Given the description of an element on the screen output the (x, y) to click on. 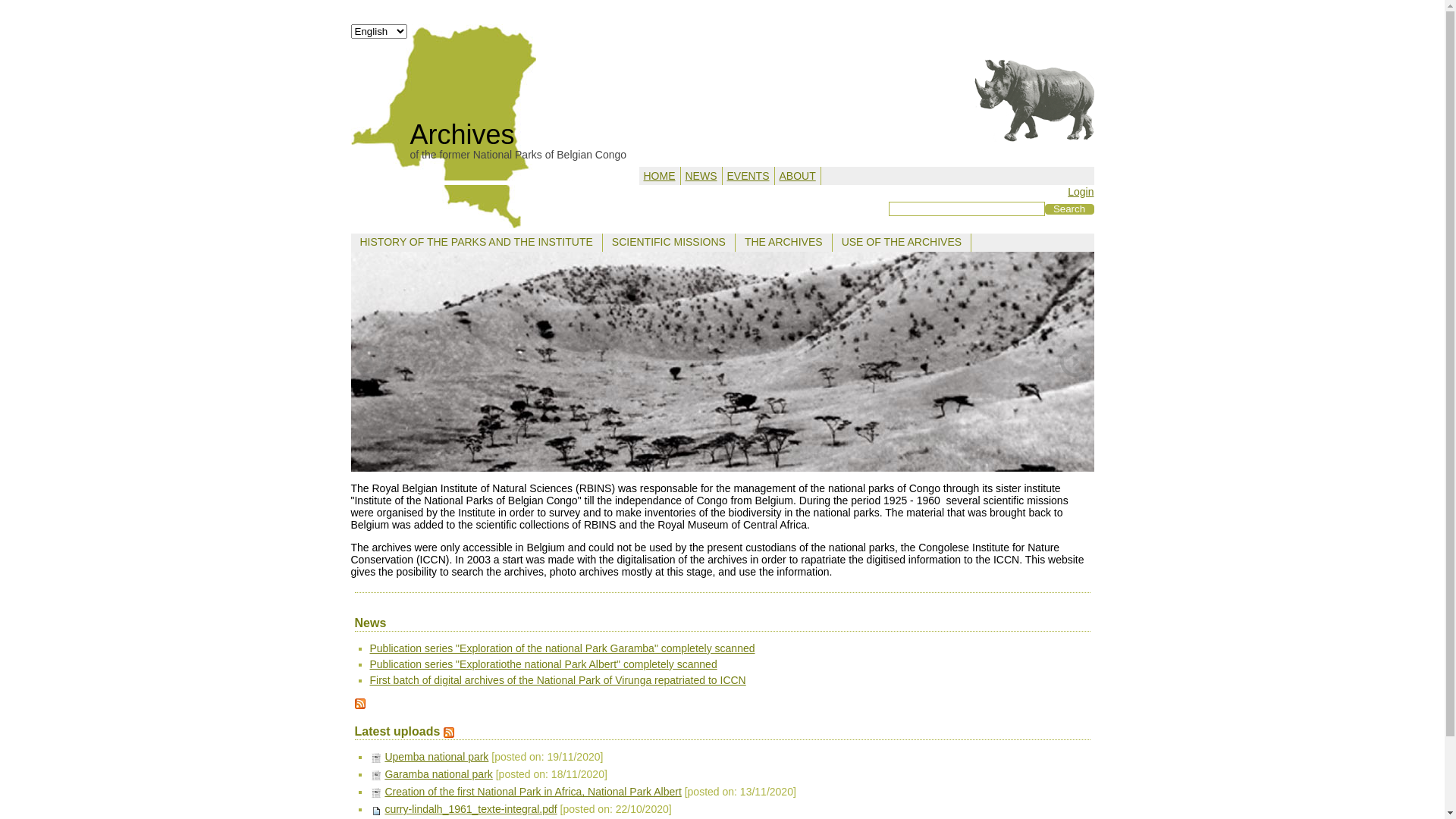
NEWS Element type: text (701, 175)
Previous Element type: hover (369, 361)
Upemba national park Element type: text (436, 756)
ABOUT Element type: text (797, 175)
curry-lindalh_1961_texte-integral.pdf Element type: text (470, 809)
Archives Element type: text (461, 134)
HOME Element type: text (658, 175)
File Element type: hover (376, 810)
EVENTS Element type: text (747, 175)
HTML Document Element type: hover (376, 793)
HTML Document Element type: hover (376, 775)
HTML Document Element type: hover (376, 758)
Login Element type: text (1080, 191)
USE OF THE ARCHIVES Element type: text (901, 241)
Next Element type: hover (1075, 361)
SCIENTIFIC MISSIONS Element type: text (668, 241)
Garamba national park Element type: text (438, 774)
Search Element type: text (1069, 208)
THE ARCHIVES Element type: text (783, 241)
HISTORY OF THE PARKS AND THE INSTITUTE Element type: text (475, 241)
